Given the description of an element on the screen output the (x, y) to click on. 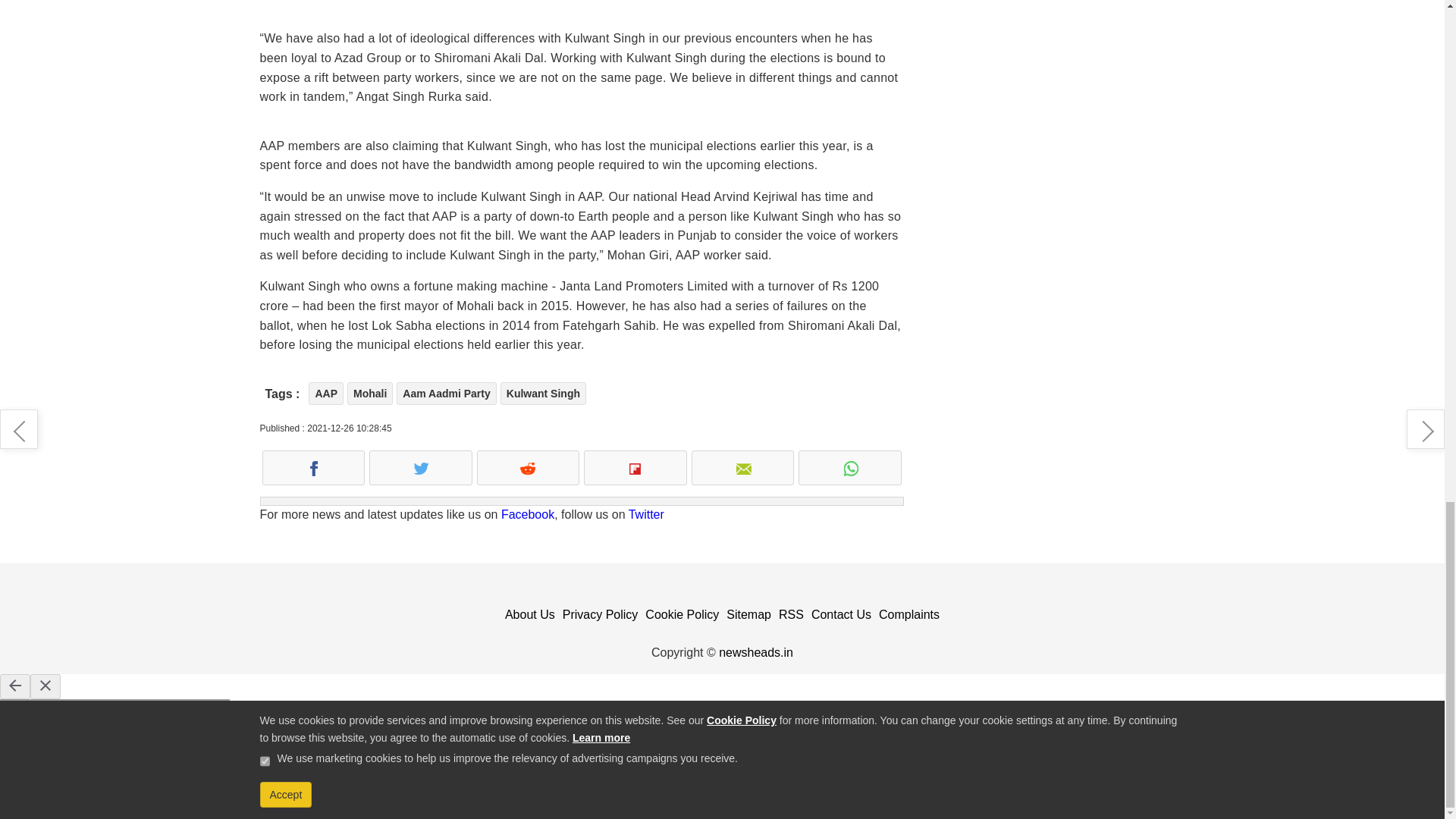
Mohali (370, 393)
Kulwant Singh (543, 393)
AAP (325, 393)
Facebook (527, 513)
Aam Aadmi Party (446, 393)
